Given the description of an element on the screen output the (x, y) to click on. 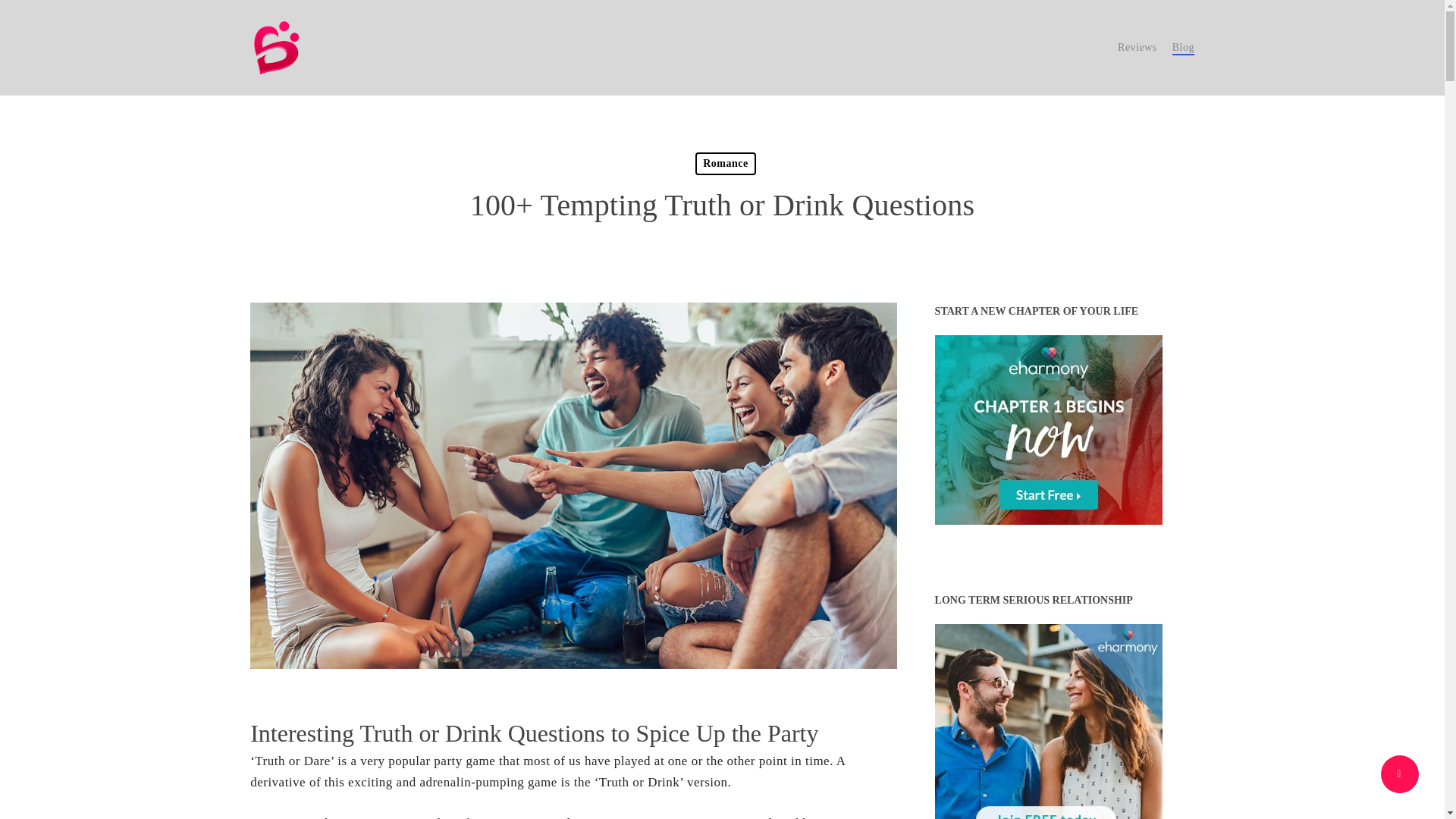
SERIOUS RELATIONSHIP (1047, 721)
Start a New Chapter of Your Life (1047, 429)
Reviews (1137, 47)
Romance (725, 163)
Blog (1182, 47)
